Given the description of an element on the screen output the (x, y) to click on. 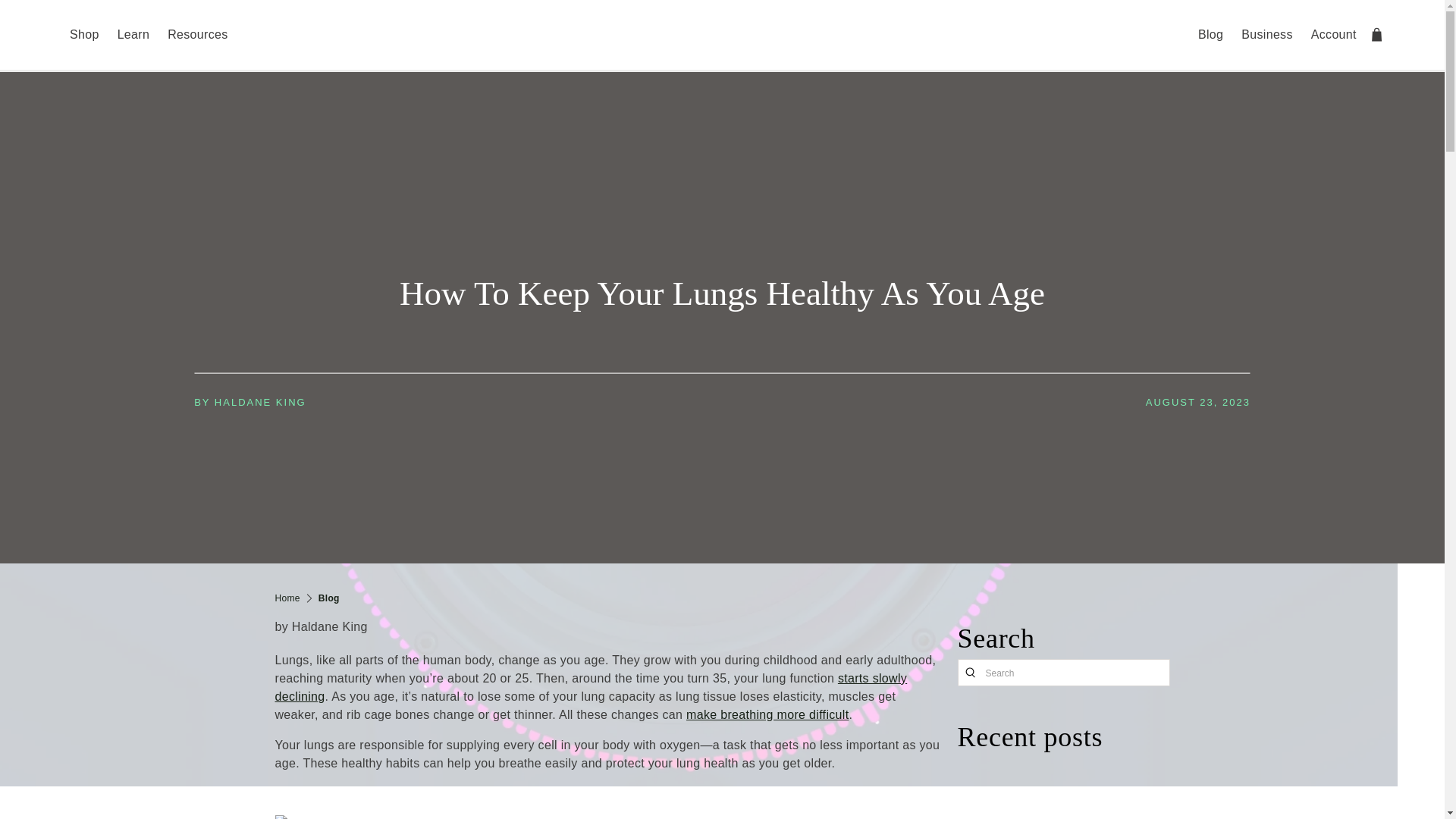
Business (1266, 34)
Molekule (287, 597)
Blog (328, 597)
What Is Causing You to Have Shortness of Breath at Night? (766, 714)
Shop (84, 34)
Account (1333, 34)
search blog (969, 672)
Blog (1210, 34)
Learn (132, 34)
Shopping Cart (1377, 34)
Resources (196, 34)
Molekule (721, 34)
